Given the description of an element on the screen output the (x, y) to click on. 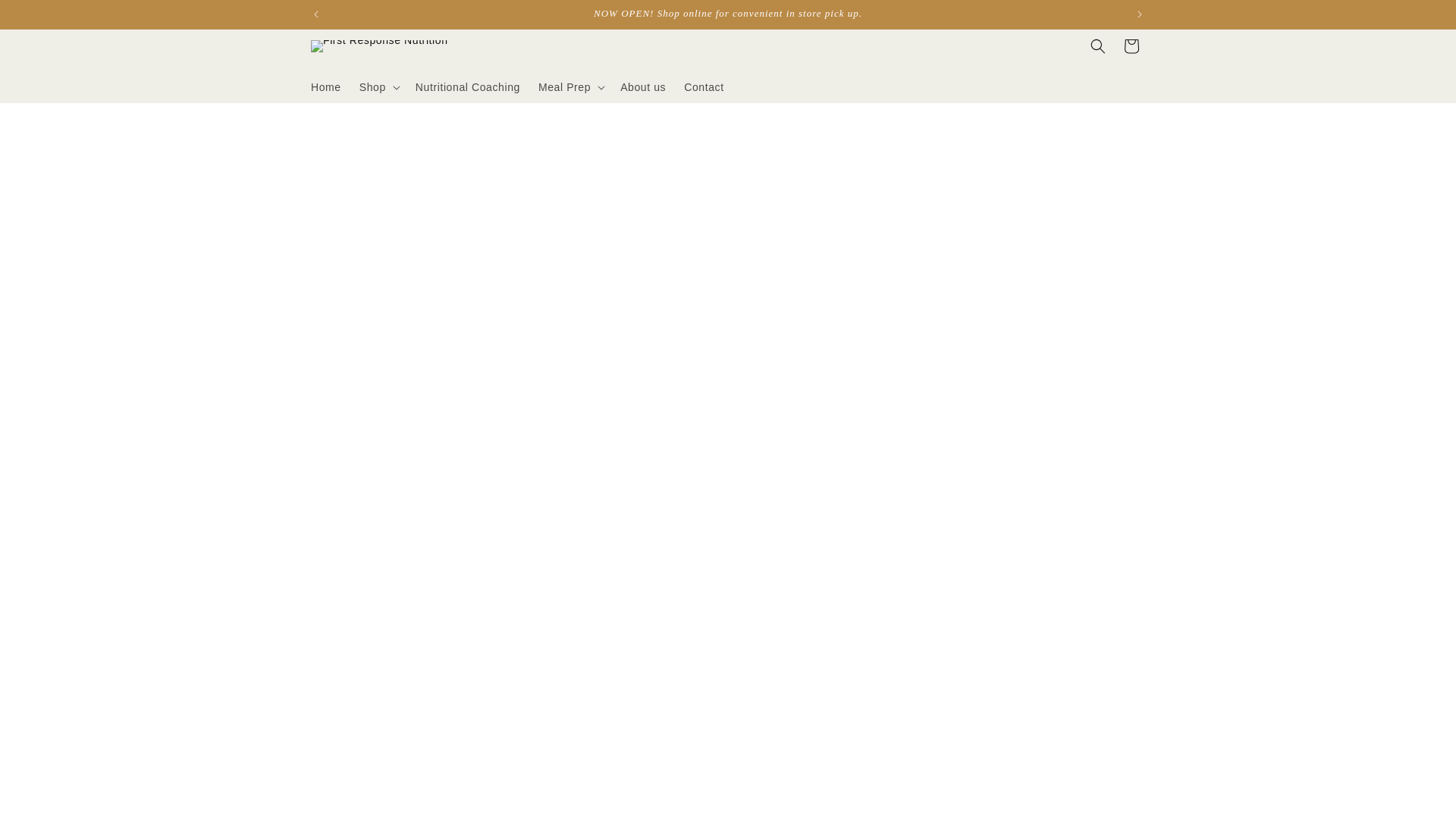
Home (325, 87)
Nutritional Coaching (467, 87)
Skip to content (45, 17)
